Given the description of an element on the screen output the (x, y) to click on. 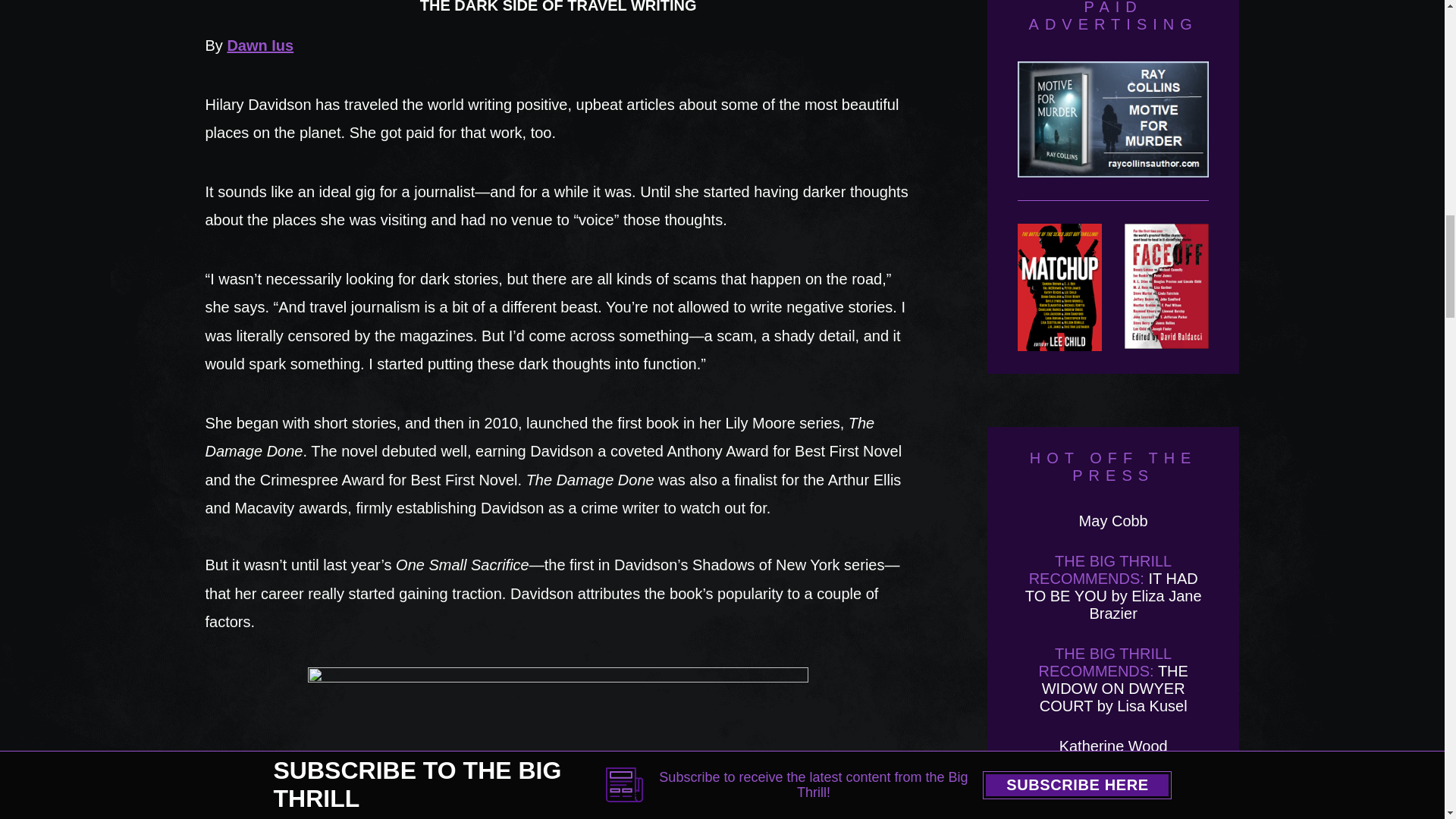
May Cobb (1113, 520)
Elle Marr (1112, 786)
Motive for Murder by Ray Collins (1113, 130)
Katherine Wood (1113, 745)
